Given the description of an element on the screen output the (x, y) to click on. 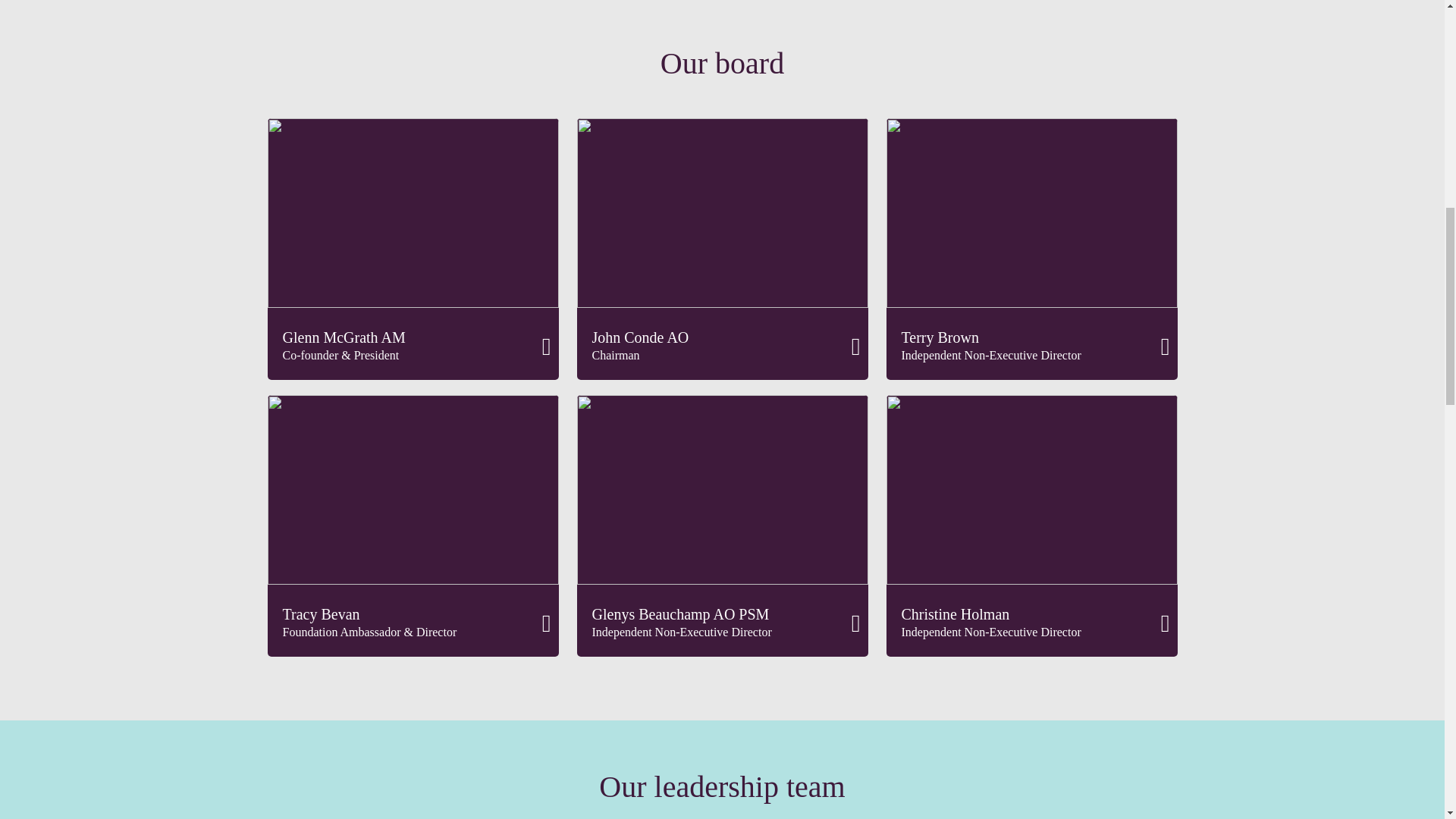
Back to top (1409, 21)
